Given the description of an element on the screen output the (x, y) to click on. 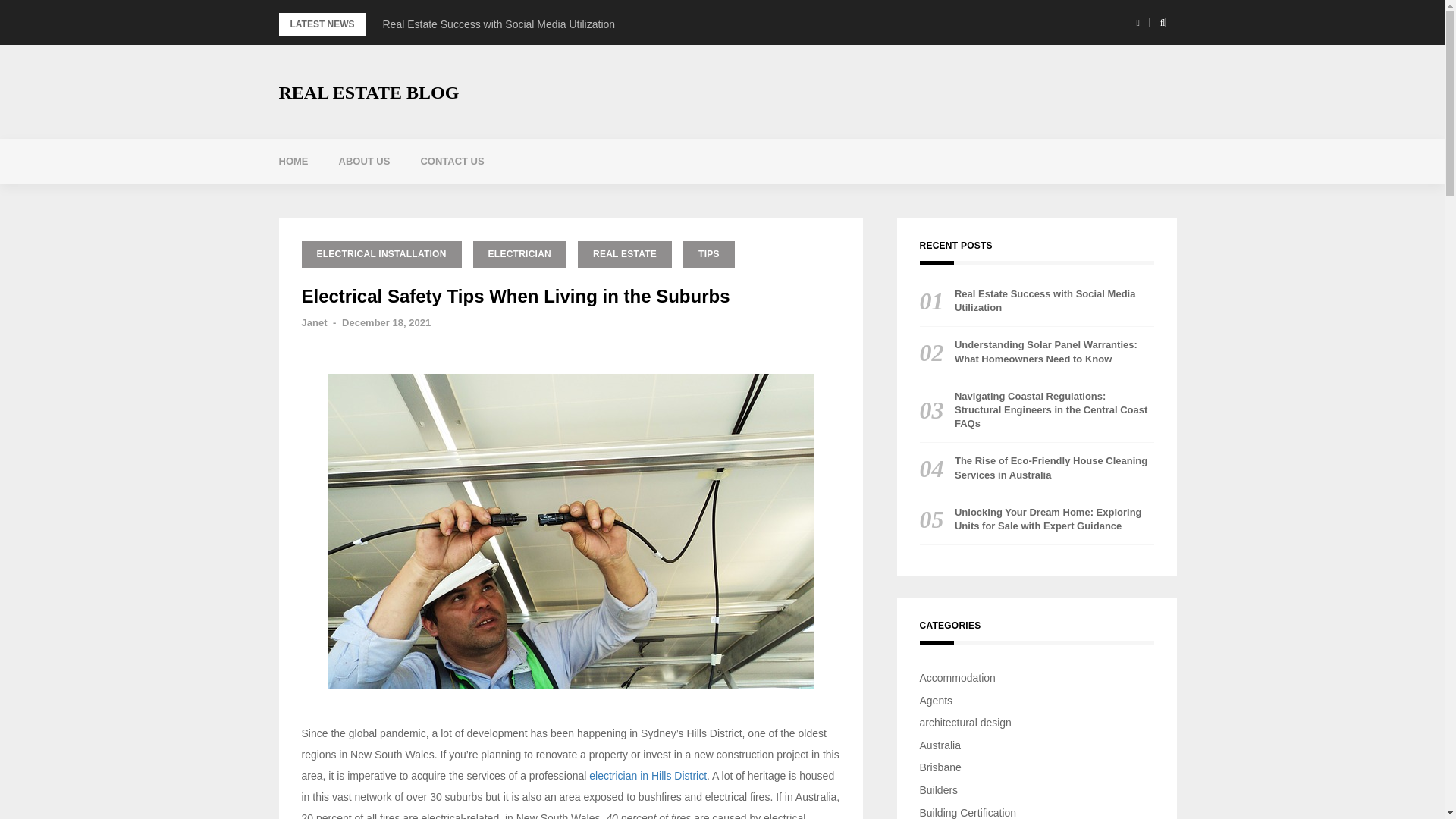
Contact Us (451, 161)
Home (293, 161)
ELECTRICIAN (519, 253)
About Us (363, 161)
CONTACT US (451, 161)
electrician in Hills District (647, 775)
December 18, 2021 (386, 322)
Real Estate Success with Social Media Utilization (497, 24)
ABOUT US (363, 161)
